Given the description of an element on the screen output the (x, y) to click on. 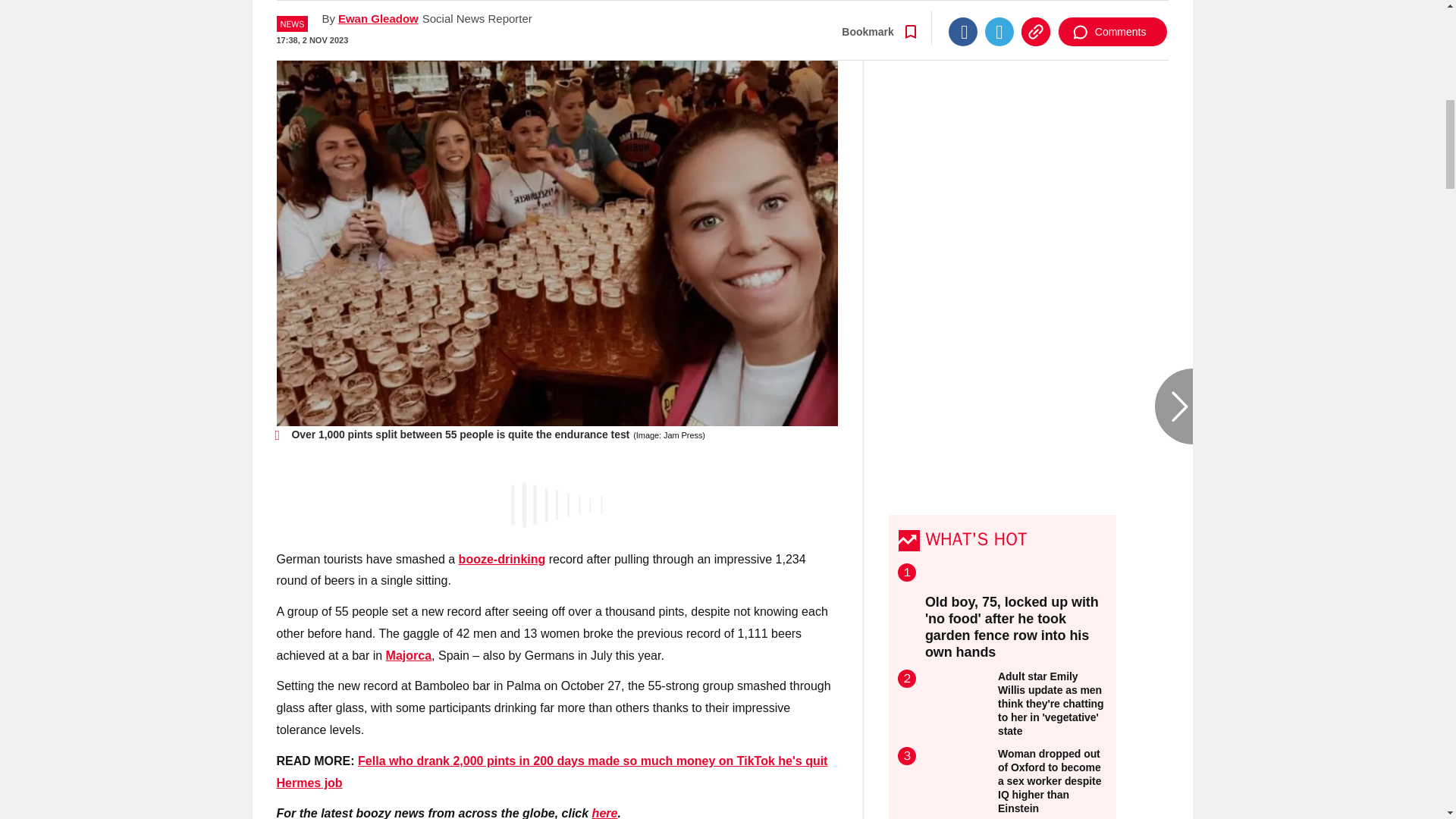
Comments (1112, 10)
Facebook (962, 10)
Twitter (999, 10)
